Given the description of an element on the screen output the (x, y) to click on. 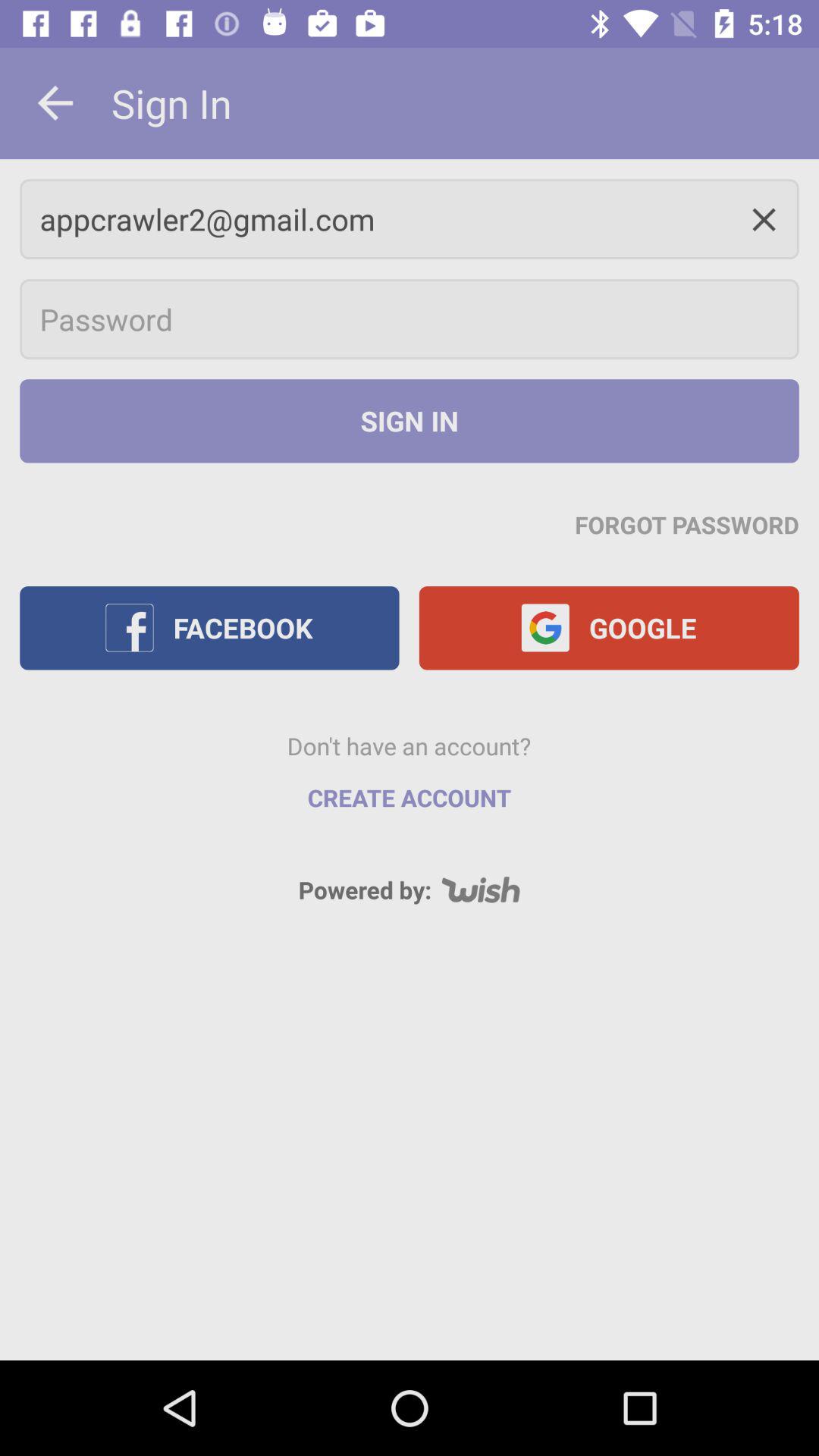
click forgot password (687, 524)
